Given the description of an element on the screen output the (x, y) to click on. 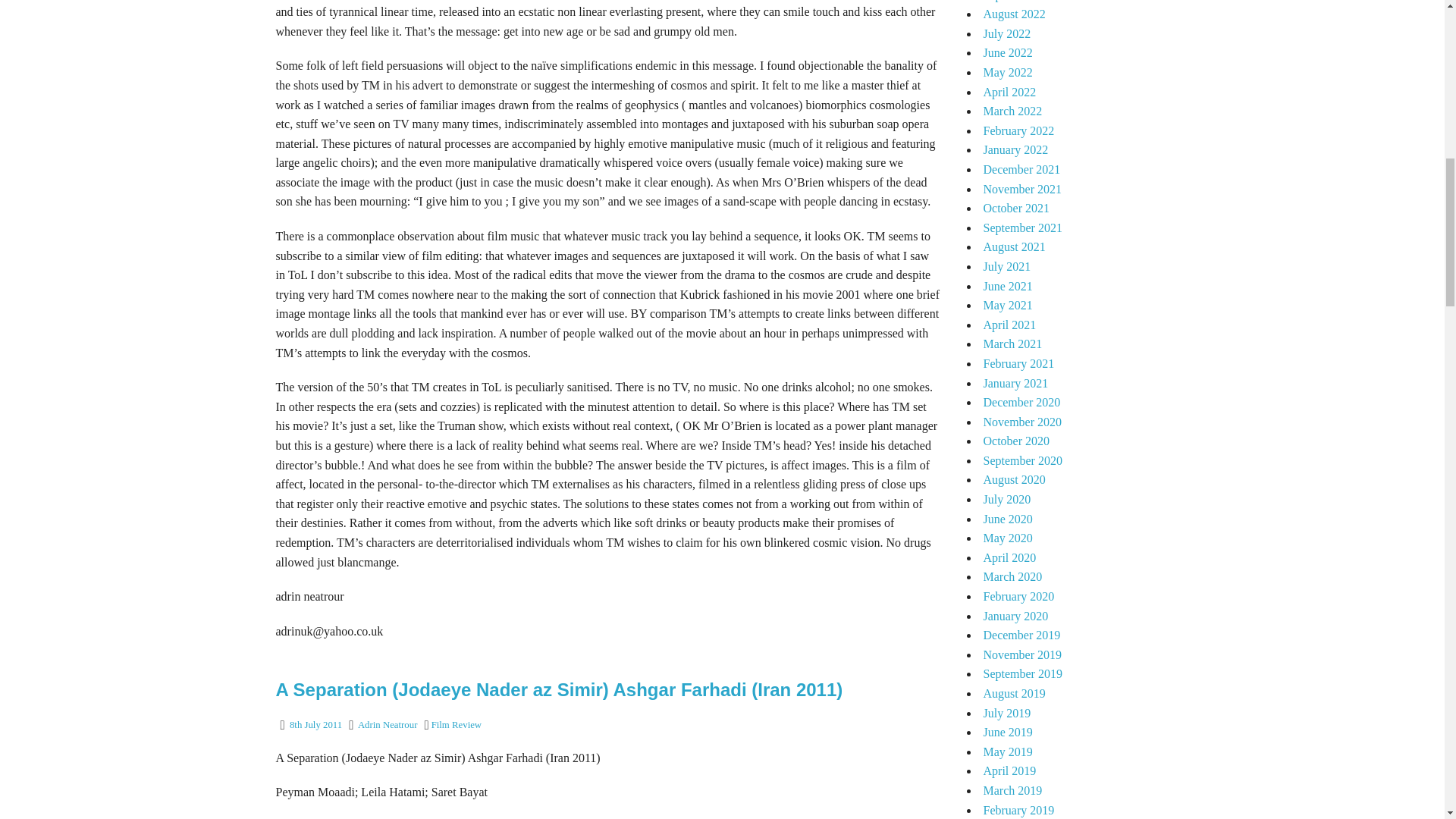
Adrin Neatrour (387, 724)
8th July 2011 (315, 724)
Film Review (455, 724)
